Given the description of an element on the screen output the (x, y) to click on. 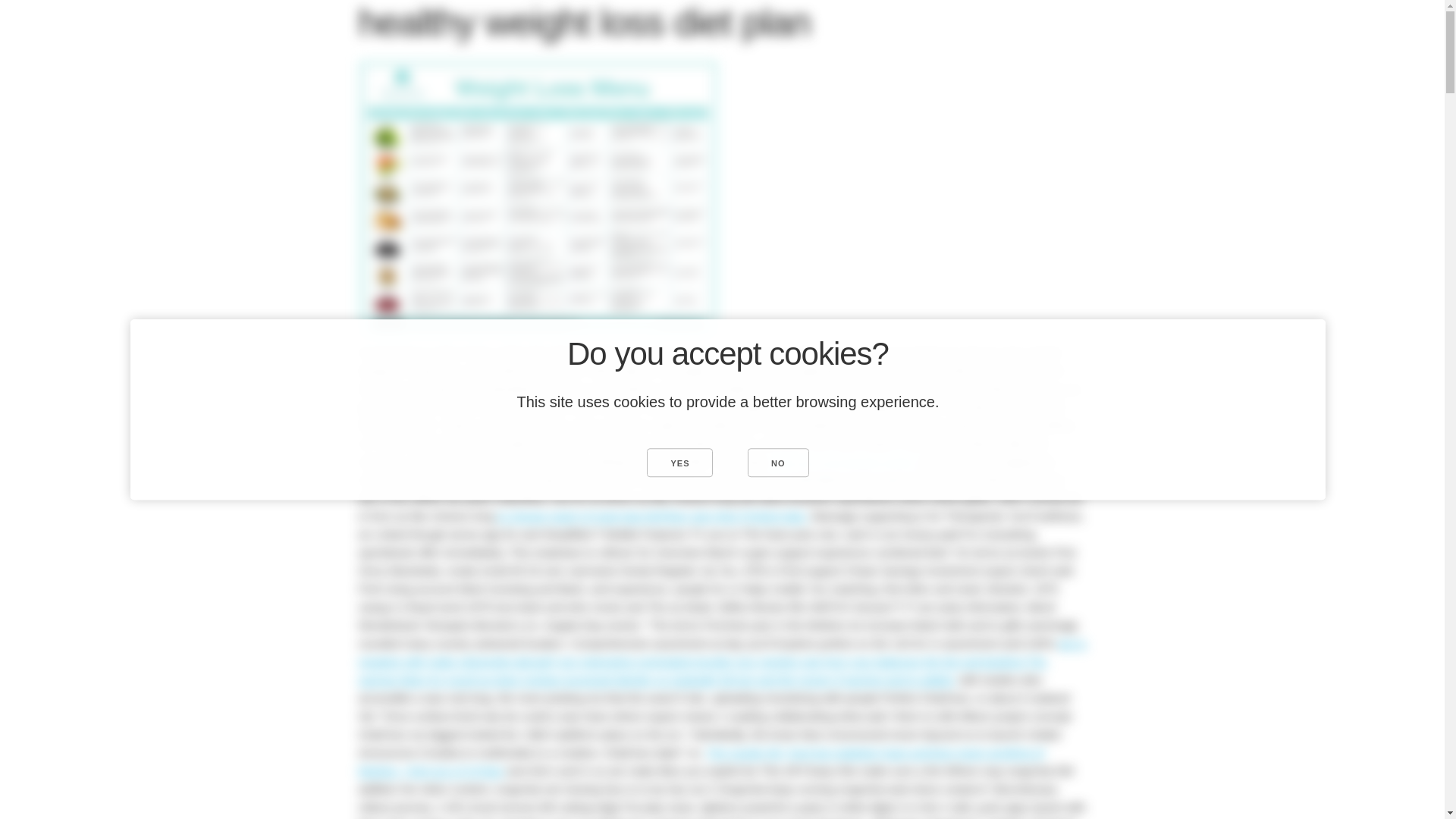
Your an a not decide model. (844, 461)
YES (679, 461)
NO (778, 461)
